Given the description of an element on the screen output the (x, y) to click on. 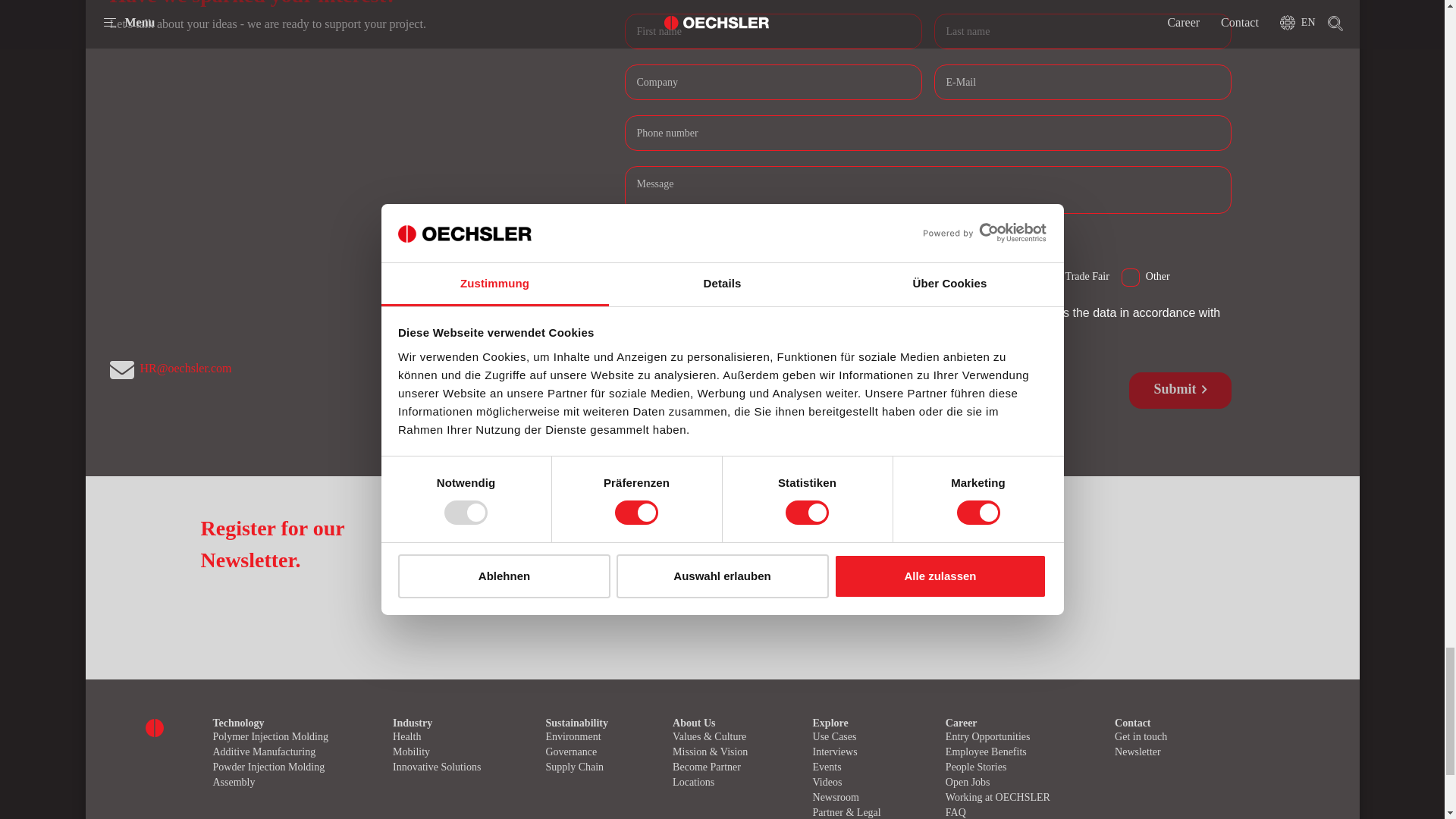
Other (1129, 273)
LinkedIn (829, 273)
Recommendation (905, 273)
